Given the description of an element on the screen output the (x, y) to click on. 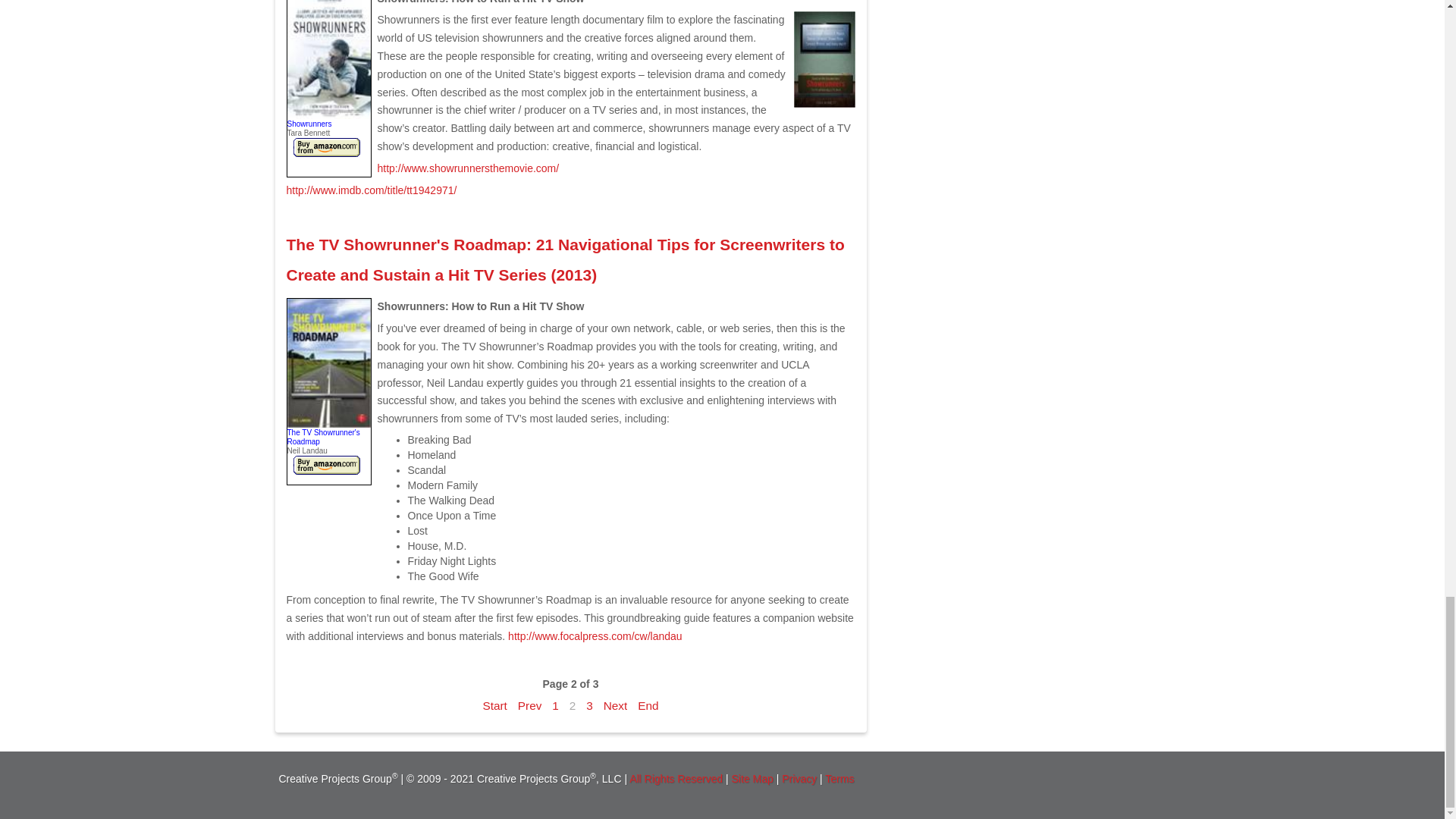
Terms (839, 778)
Privacy (798, 778)
All Rights Reserved (675, 778)
Start (493, 705)
Next (615, 705)
Prev (529, 705)
Site Map (754, 778)
End (647, 705)
